Given the description of an element on the screen output the (x, y) to click on. 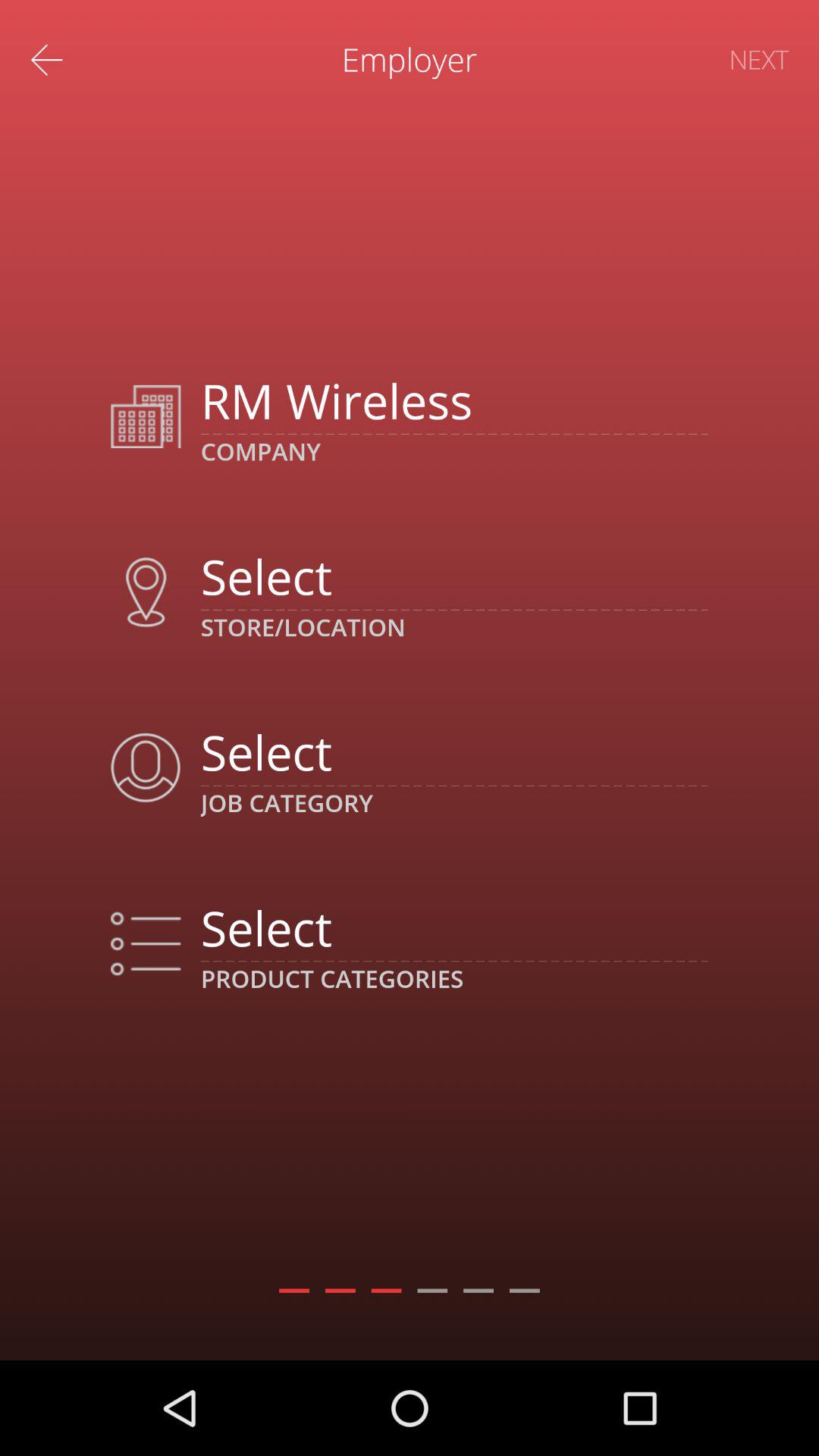
select product categories (454, 927)
